Given the description of an element on the screen output the (x, y) to click on. 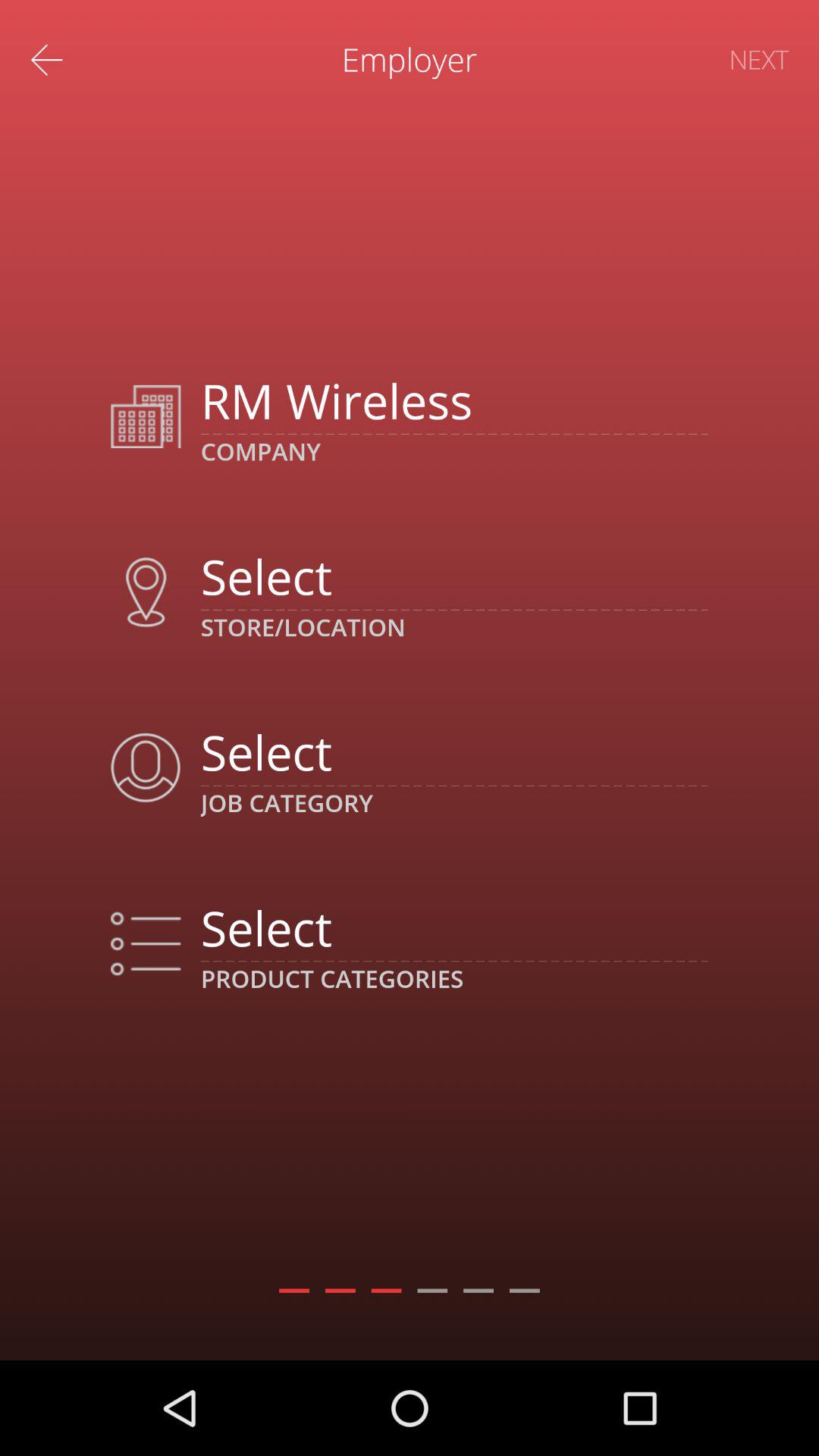
select product categories (454, 927)
